Given the description of an element on the screen output the (x, y) to click on. 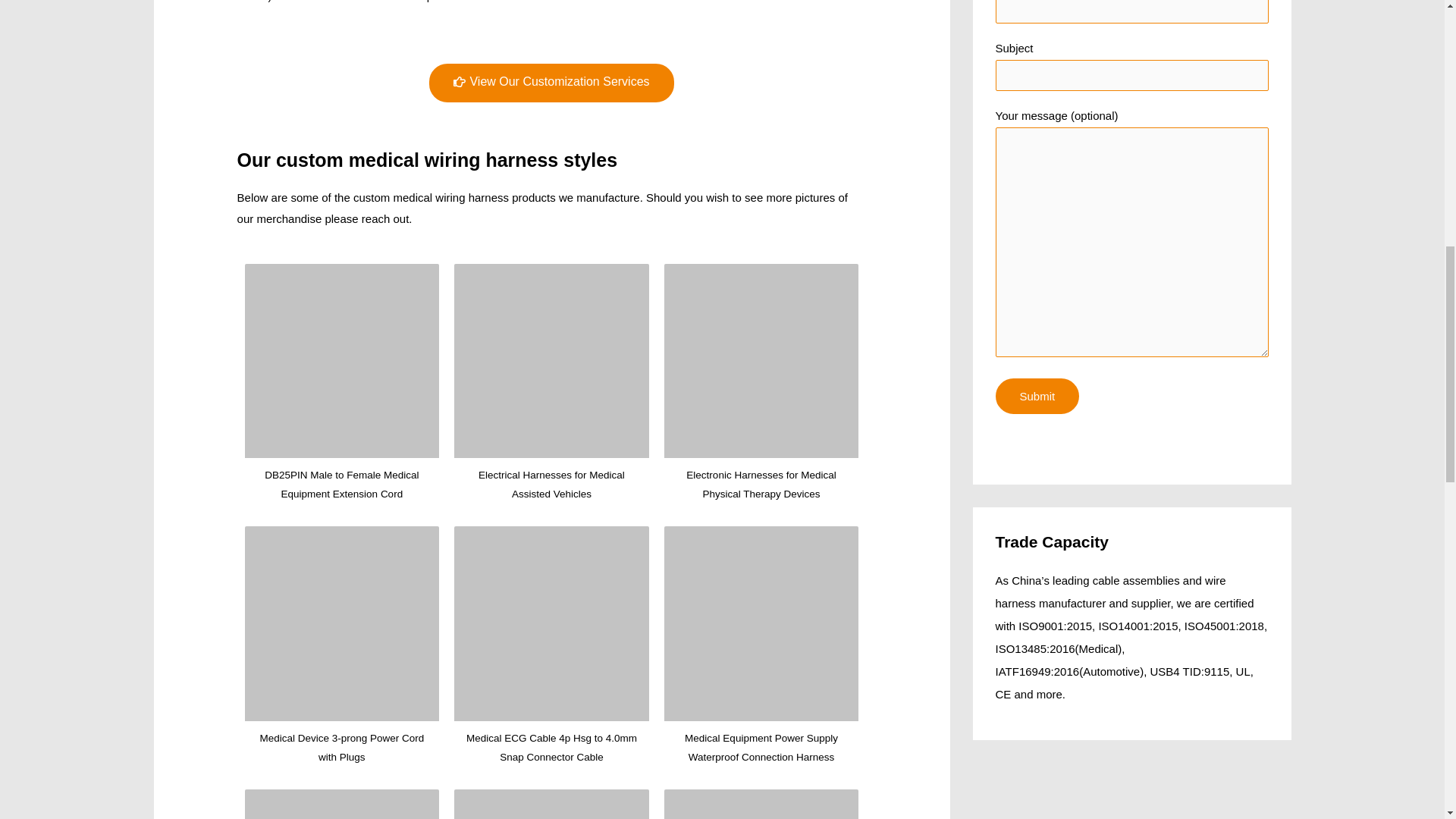
Submit (1036, 396)
